Given the description of an element on the screen output the (x, y) to click on. 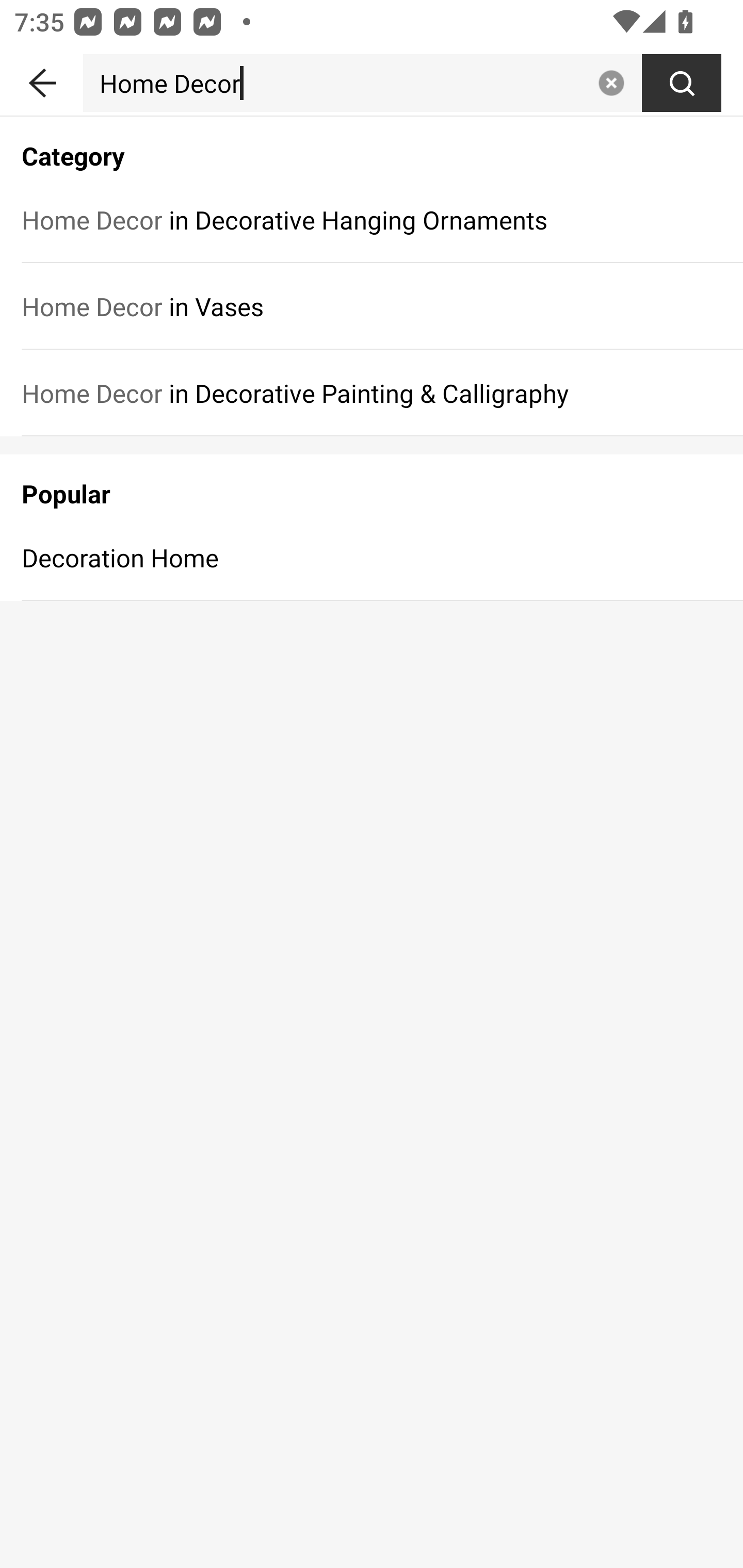
BACK (41, 79)
Home Decor (336, 82)
Clear (610, 82)
Category (371, 145)
Home Decor in Decorative Hanging Ornaments (371, 219)
Home Decor in Vases (371, 306)
Home Decor in Decorative Painting & Calligraphy (371, 392)
Popular (371, 484)
Decoration Home (371, 557)
